Given the description of an element on the screen output the (x, y) to click on. 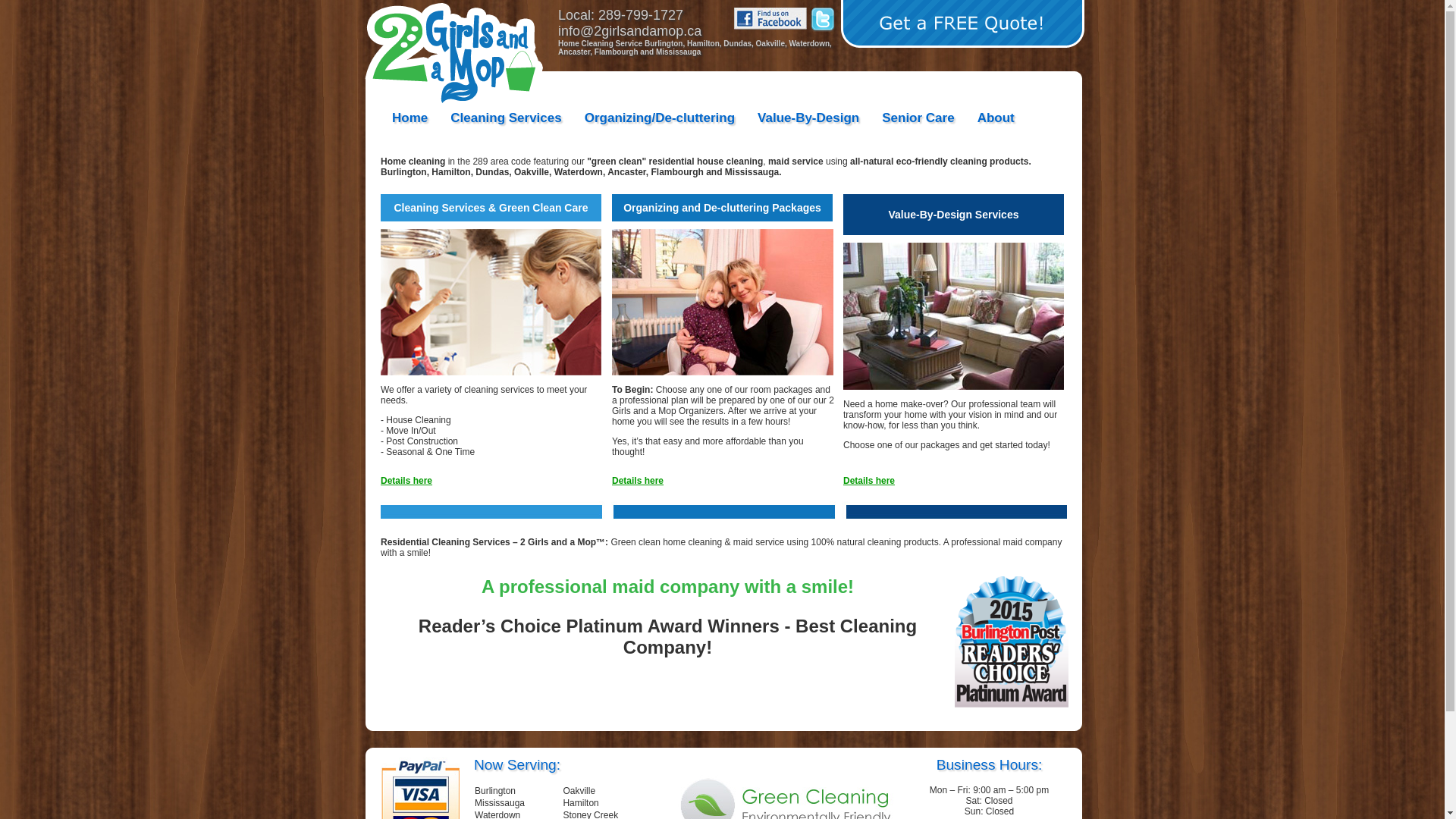
Cleaning Services Element type: text (505, 119)
Details here Element type: text (637, 480)
Cleaning Services & Green Clean Care Element type: text (491, 285)
Value-By-Design Element type: text (808, 119)
About Element type: text (995, 119)
Value-By-Design Services Element type: text (954, 293)
Senior Care Element type: text (917, 119)
Organizing/De-cluttering Element type: text (659, 119)
Details here Element type: text (868, 480)
Home Element type: text (409, 119)
Organizing and De-cluttering Packages Element type: text (722, 285)
Details here Element type: text (406, 480)
